Given the description of an element on the screen output the (x, y) to click on. 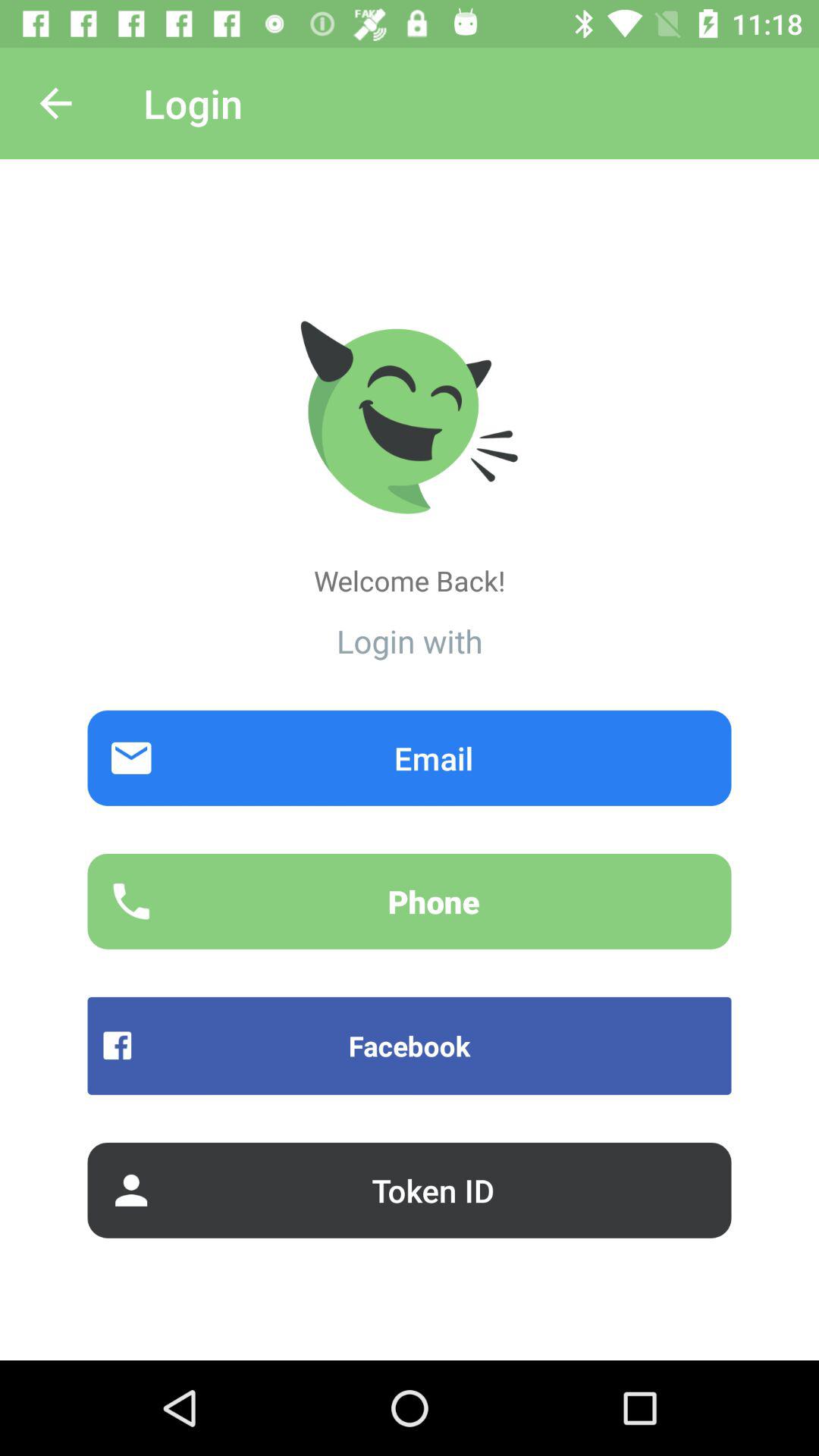
scroll until email icon (409, 757)
